Given the description of an element on the screen output the (x, y) to click on. 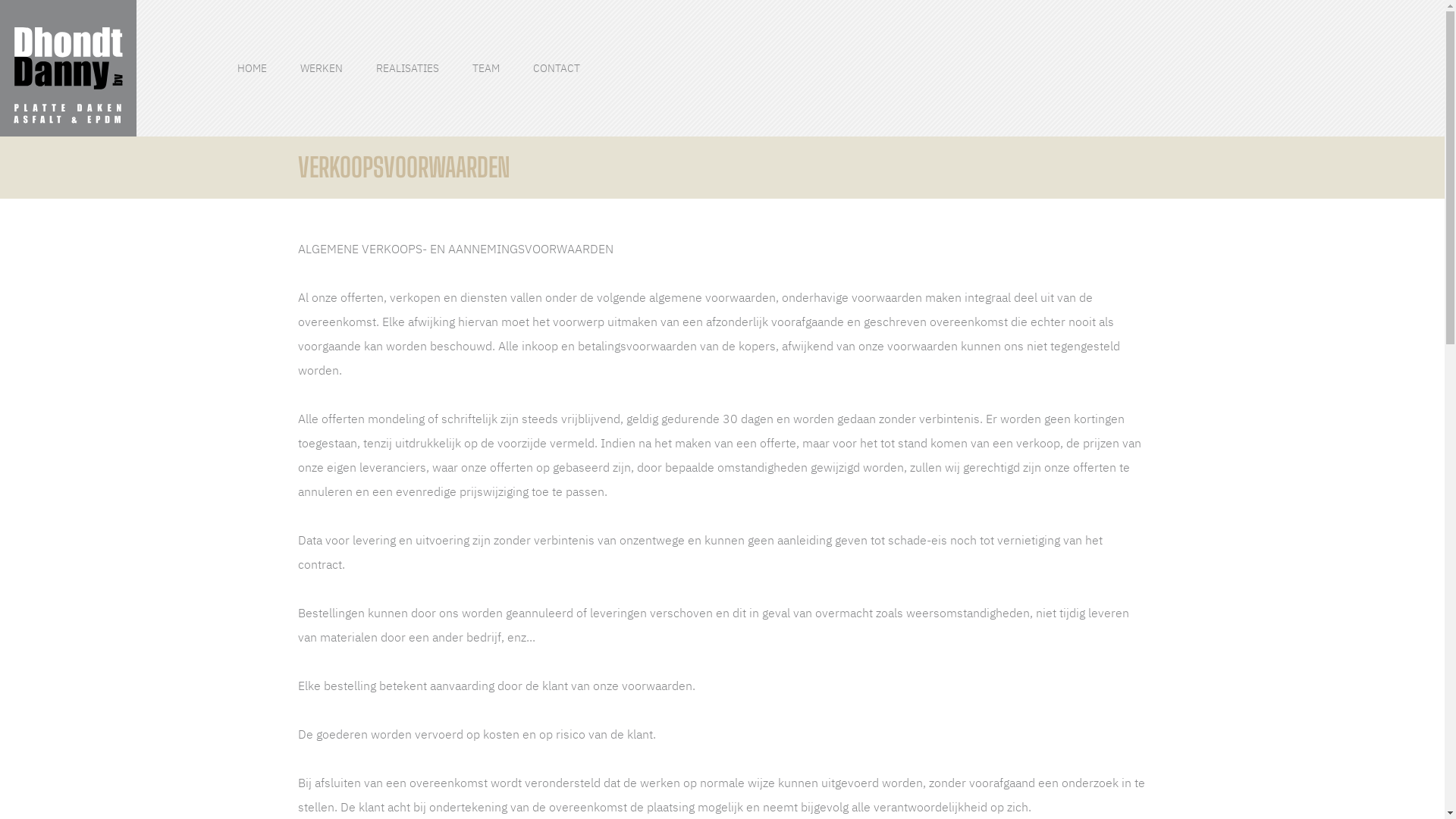
CONTACT Element type: text (556, 68)
HOME Element type: text (251, 68)
REALISATIES Element type: text (407, 68)
WERKEN Element type: text (321, 68)
TEAM Element type: text (485, 68)
